Given the description of an element on the screen output the (x, y) to click on. 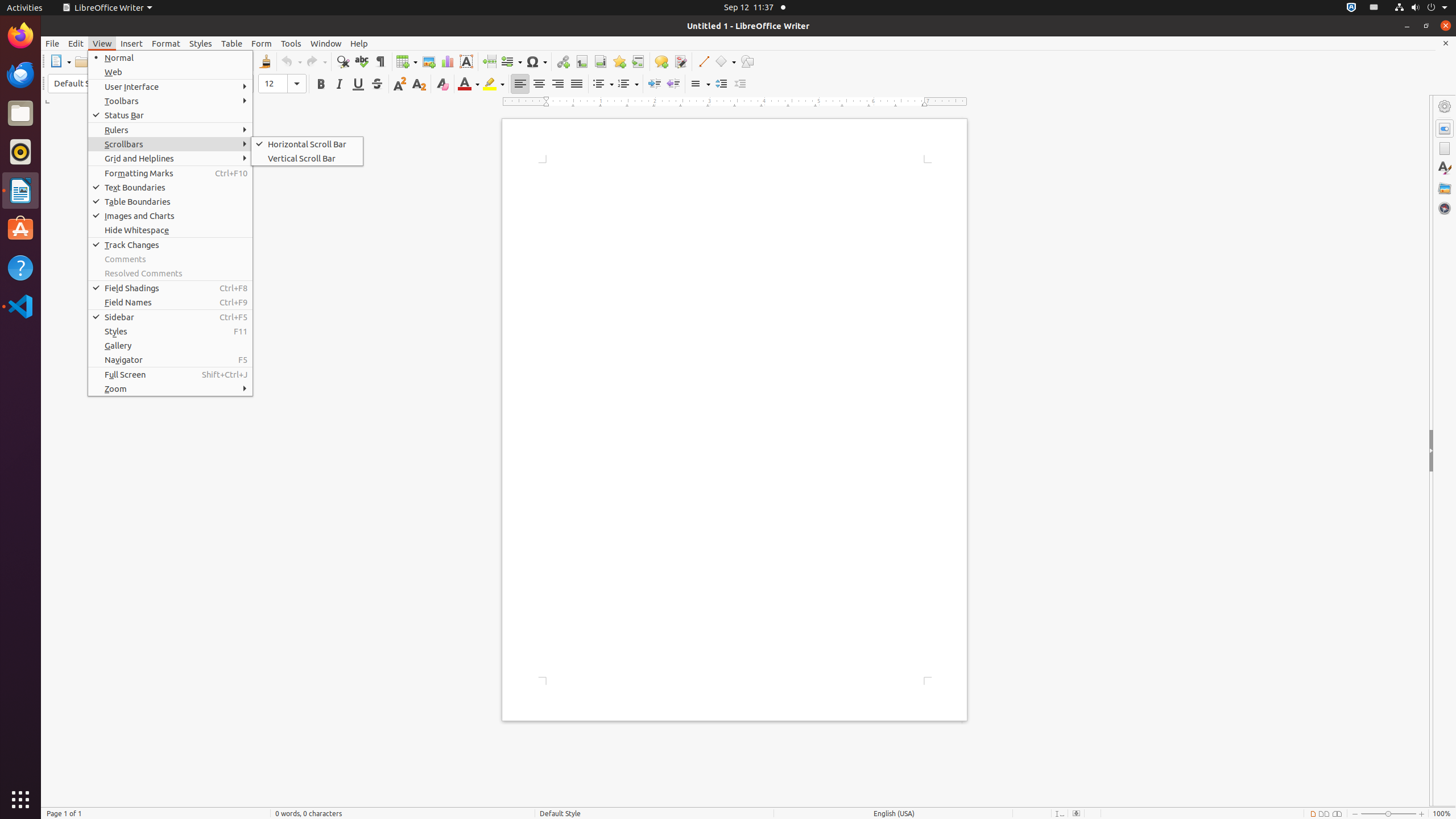
Cross-reference Element type: push-button (637, 61)
Styles Element type: menu-item (170, 331)
Clear Element type: push-button (441, 83)
Page Break Element type: push-button (489, 61)
